Given the description of an element on the screen output the (x, y) to click on. 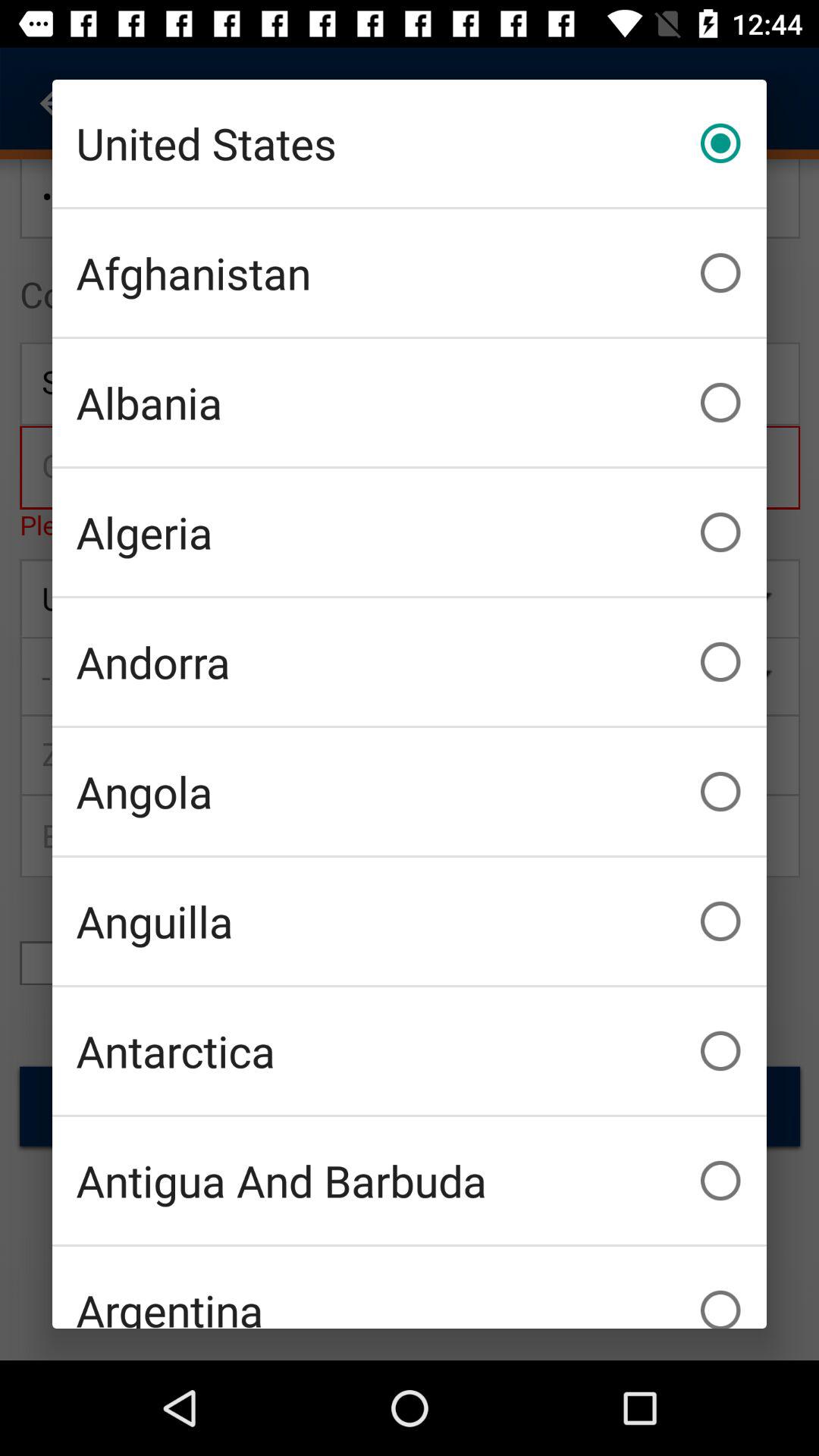
flip until the afghanistan icon (409, 272)
